Given the description of an element on the screen output the (x, y) to click on. 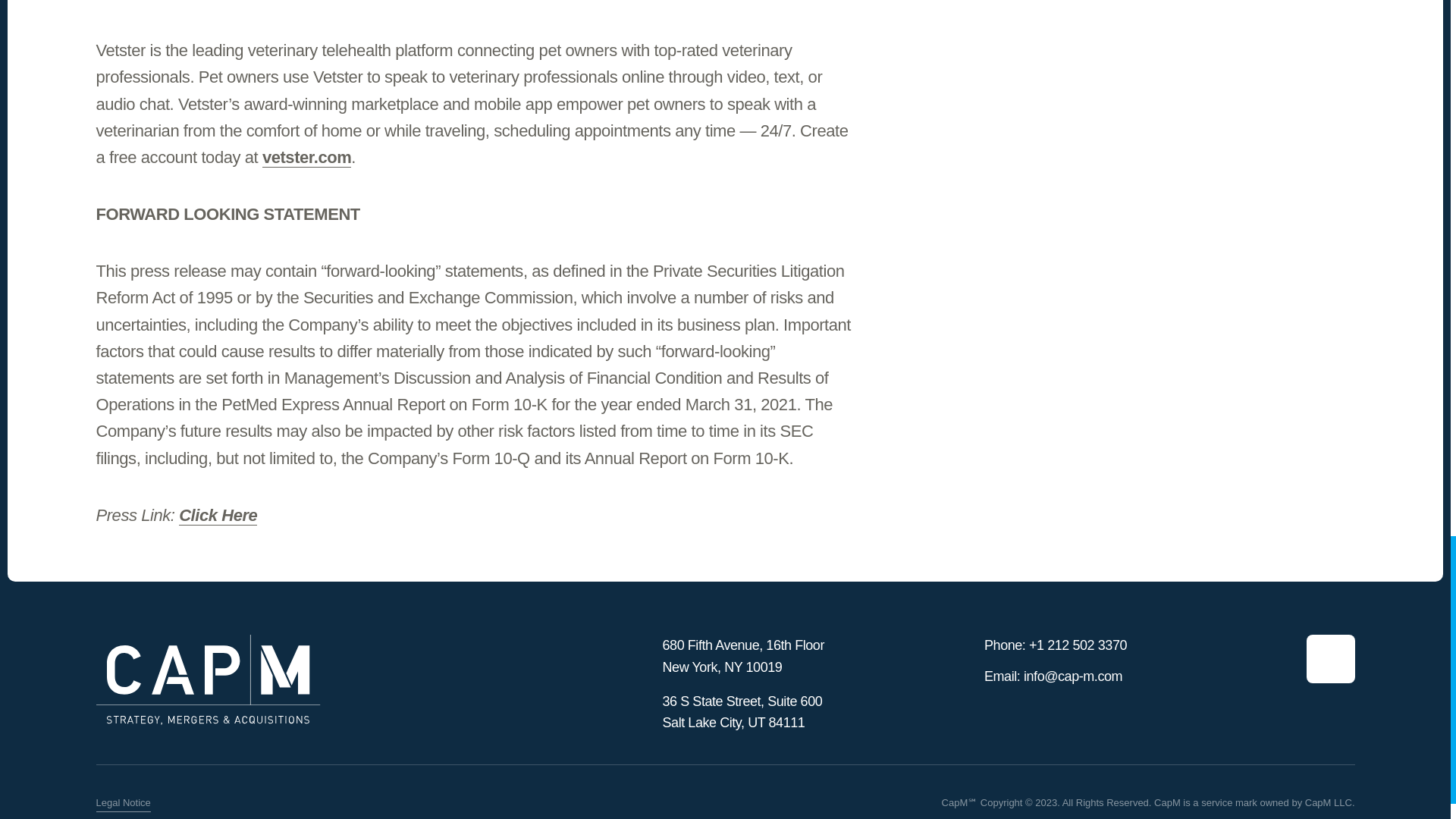
Click Here (218, 515)
vetster.com (306, 157)
Legal Notice (122, 803)
